Given the description of an element on the screen output the (x, y) to click on. 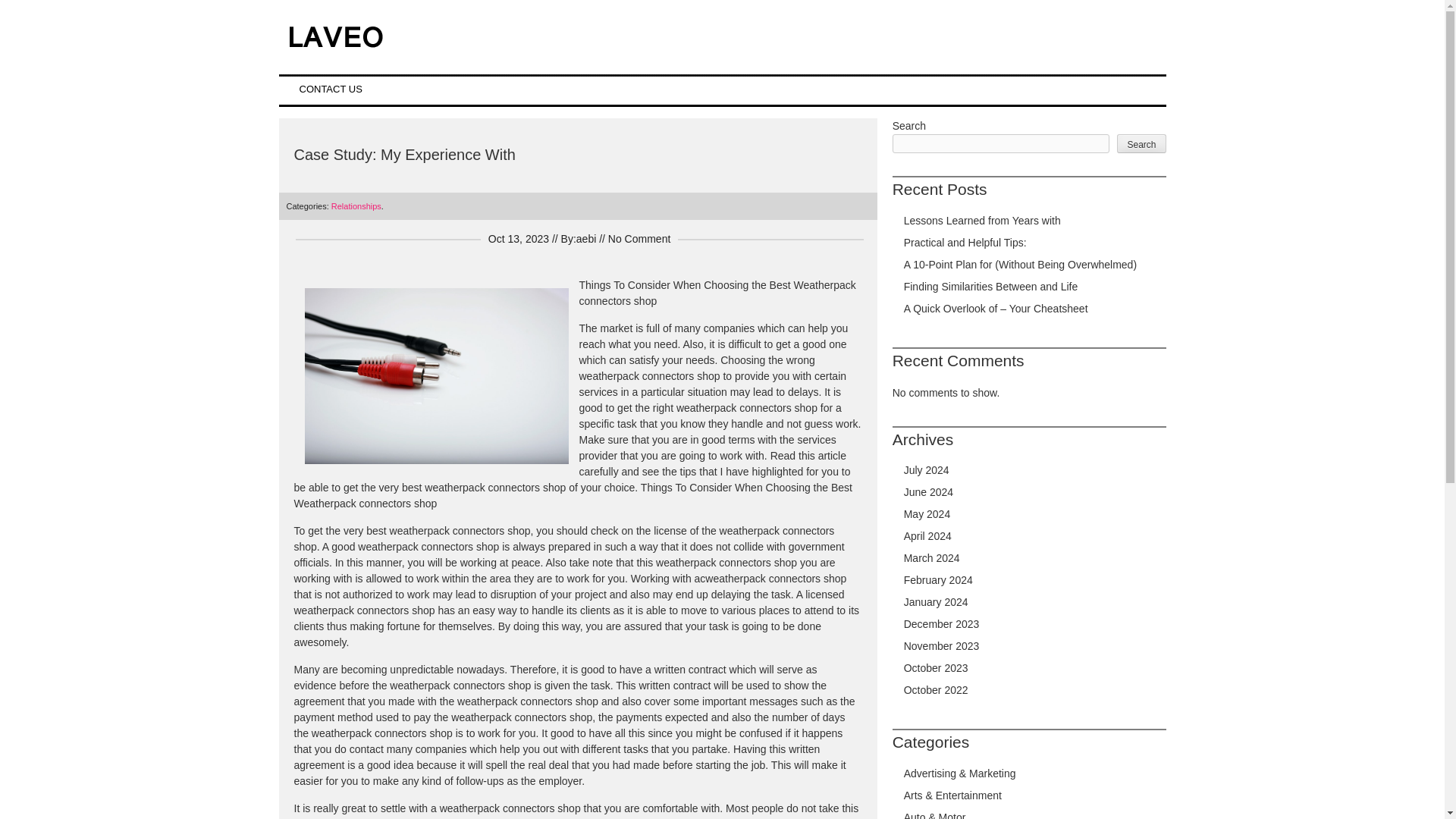
Finding Similarities Between and Life (991, 286)
April 2024 (928, 535)
December 2023 (941, 623)
July 2024 (926, 469)
March 2024 (931, 558)
Relationships (356, 205)
CONTACT US (330, 89)
October 2022 (936, 689)
June 2024 (928, 491)
Search (1141, 143)
